Given the description of an element on the screen output the (x, y) to click on. 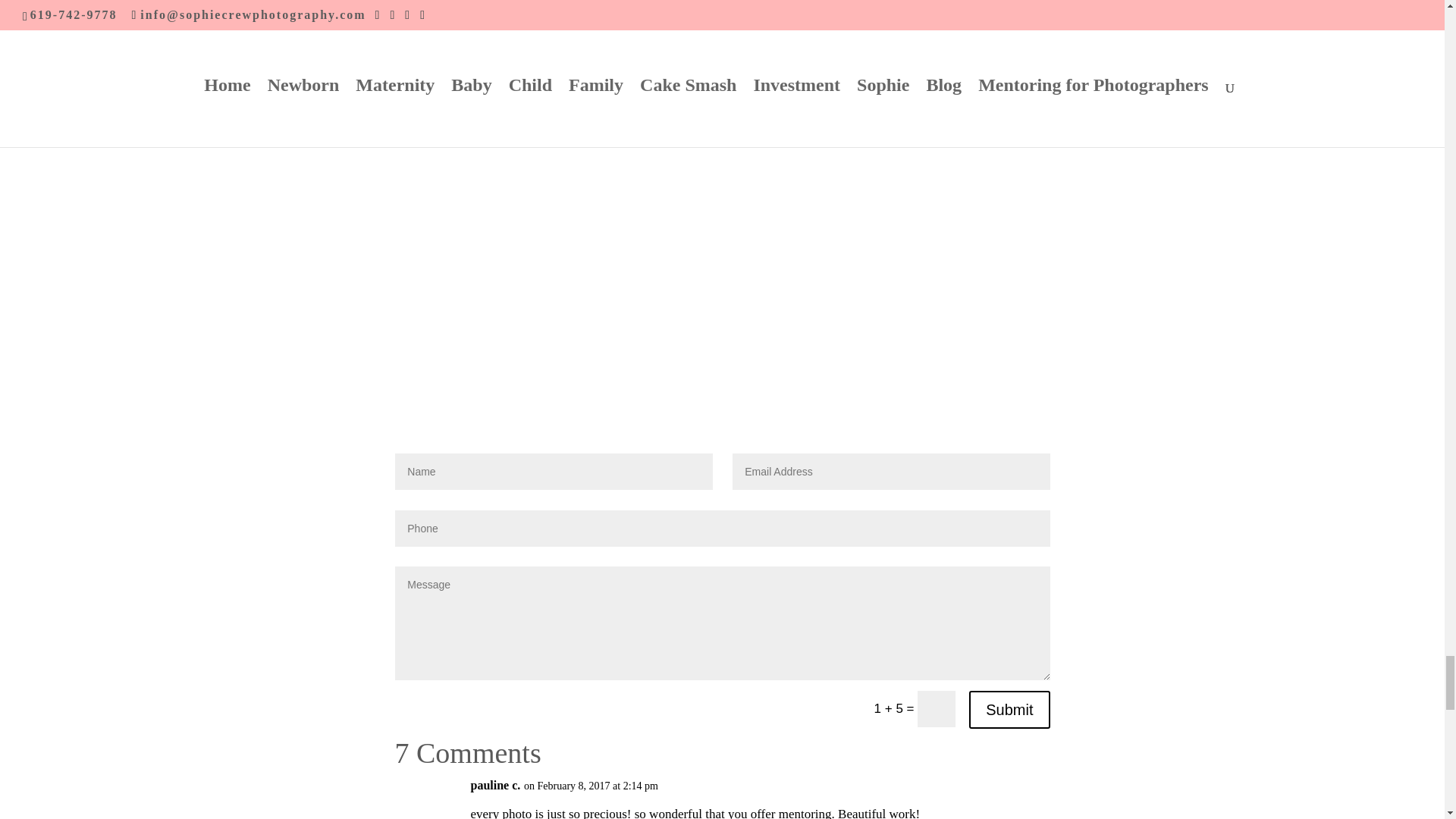
Submit (1009, 709)
